Given the description of an element on the screen output the (x, y) to click on. 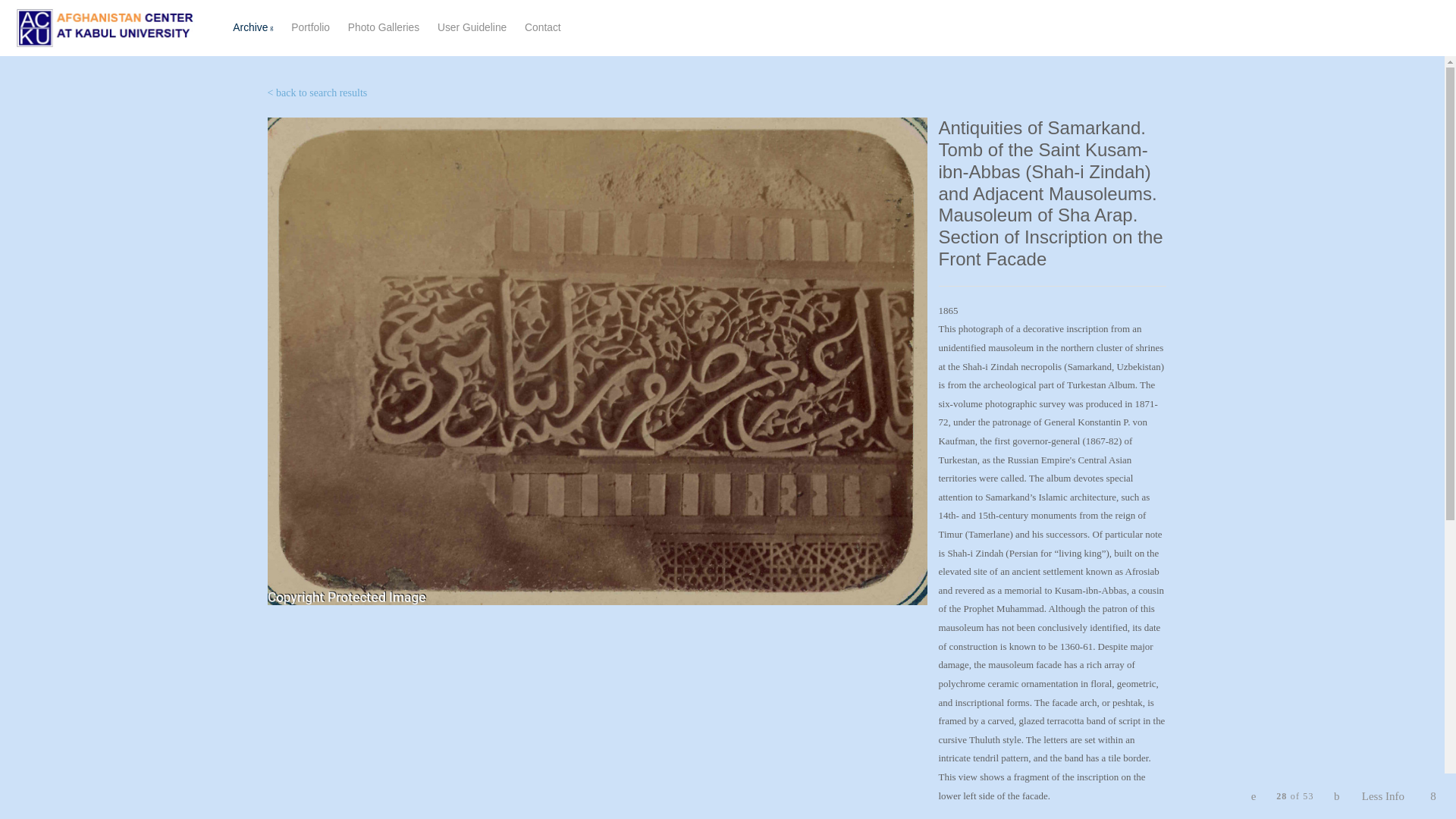
User Guideline (472, 27)
Afghanistan Centre at Kabul University (105, 27)
Photo Galleries (383, 27)
Contact (403, 28)
back to search results (542, 27)
Portfolio (316, 92)
Afghanistan Centre at Kabul University (310, 27)
